Given the description of an element on the screen output the (x, y) to click on. 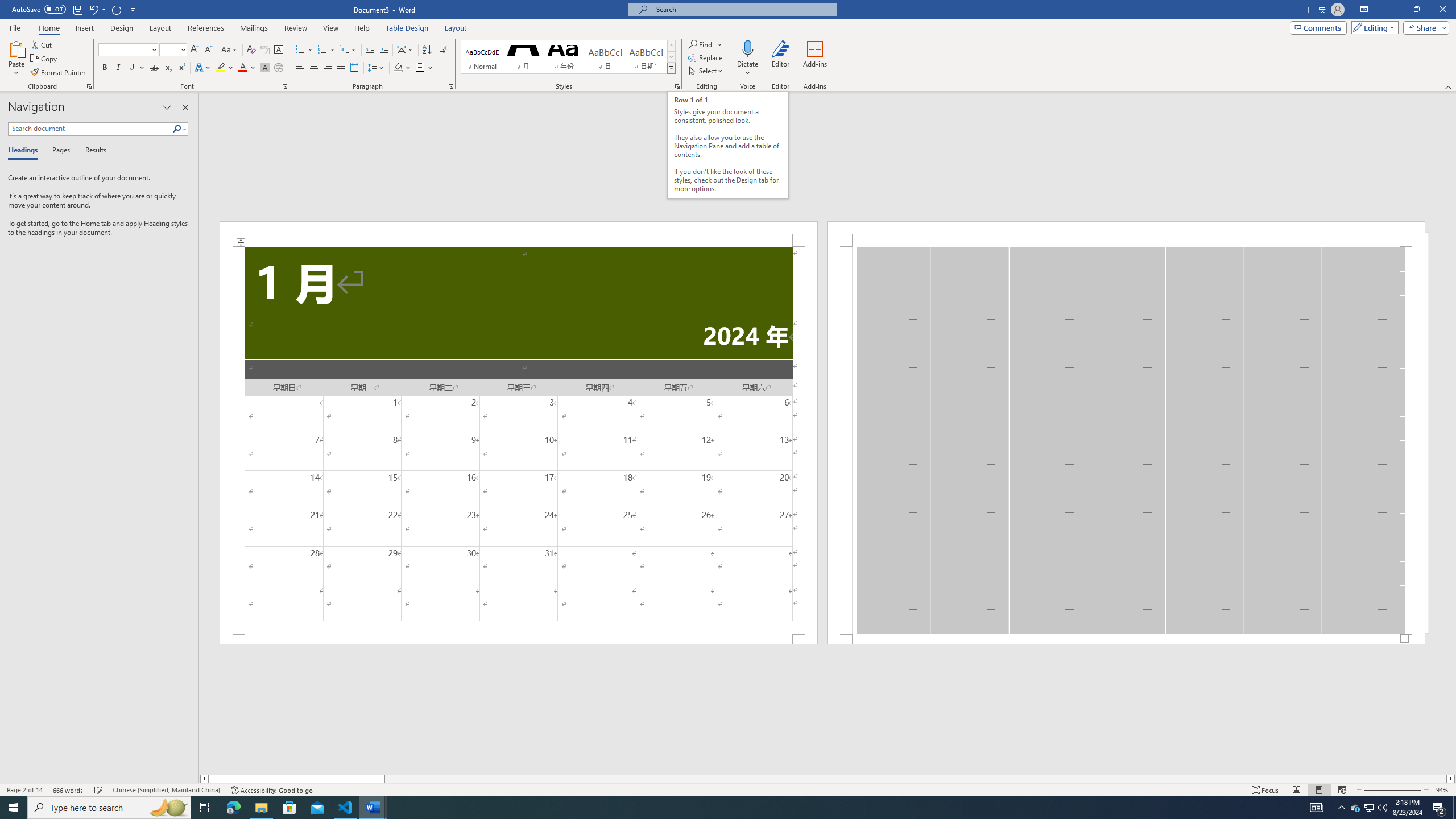
Page 2 content (1126, 439)
Undo Distribute Para (96, 9)
